Given the description of an element on the screen output the (x, y) to click on. 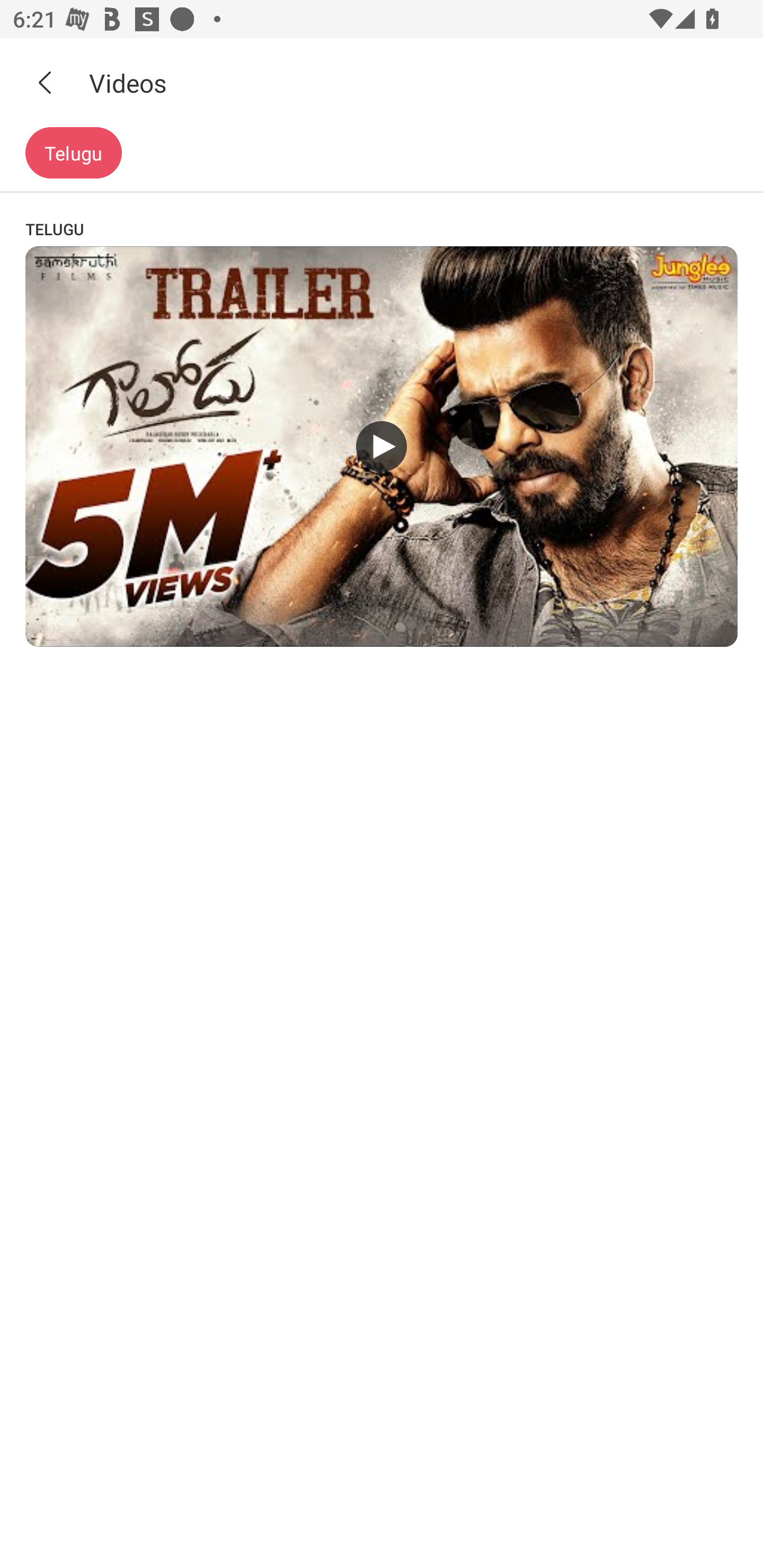
Back (44, 82)
Telugu (73, 152)
Play (381, 446)
